Given the description of an element on the screen output the (x, y) to click on. 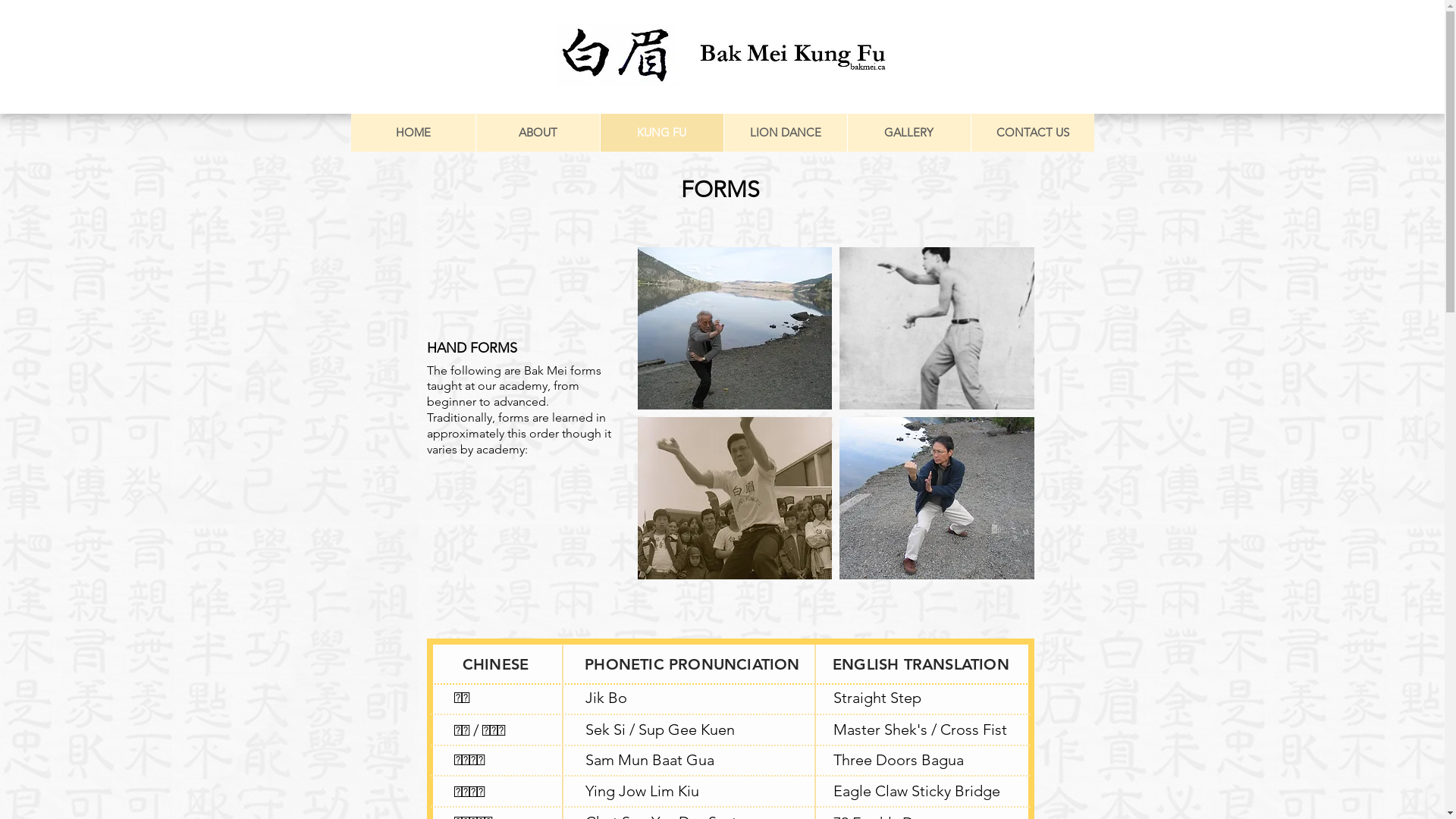
GALLERY Element type: text (907, 132)
LION DANCE Element type: text (785, 132)
ABOUT Element type: text (536, 132)
HOME Element type: text (412, 132)
KUNG FU Element type: text (660, 132)
CONTACT US Element type: text (1032, 132)
